Given the description of an element on the screen output the (x, y) to click on. 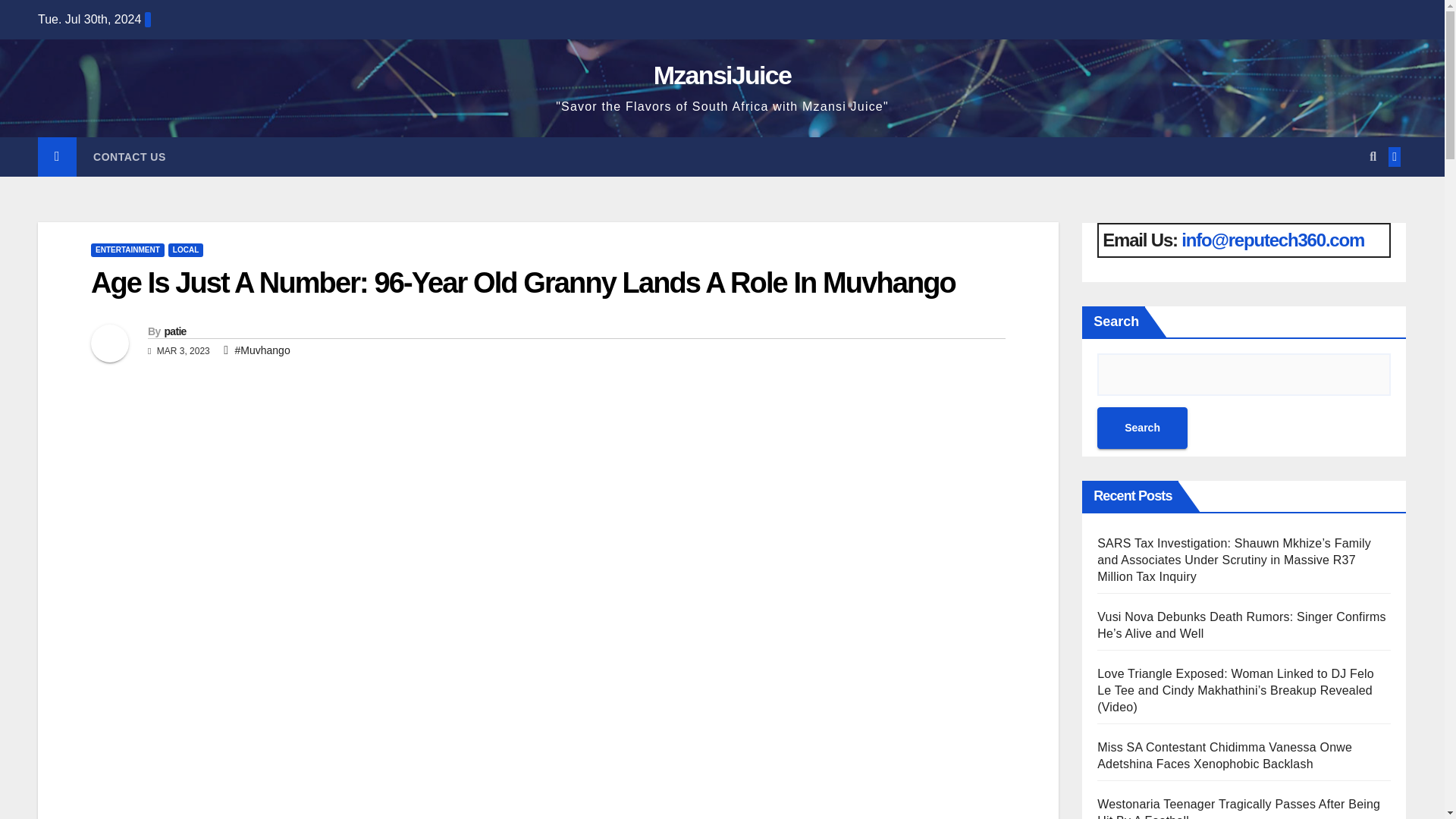
MzansiJuice (722, 74)
patie (174, 331)
ENTERTAINMENT (127, 250)
Contact Us (130, 156)
CONTACT US (130, 156)
LOCAL (185, 250)
